Given the description of an element on the screen output the (x, y) to click on. 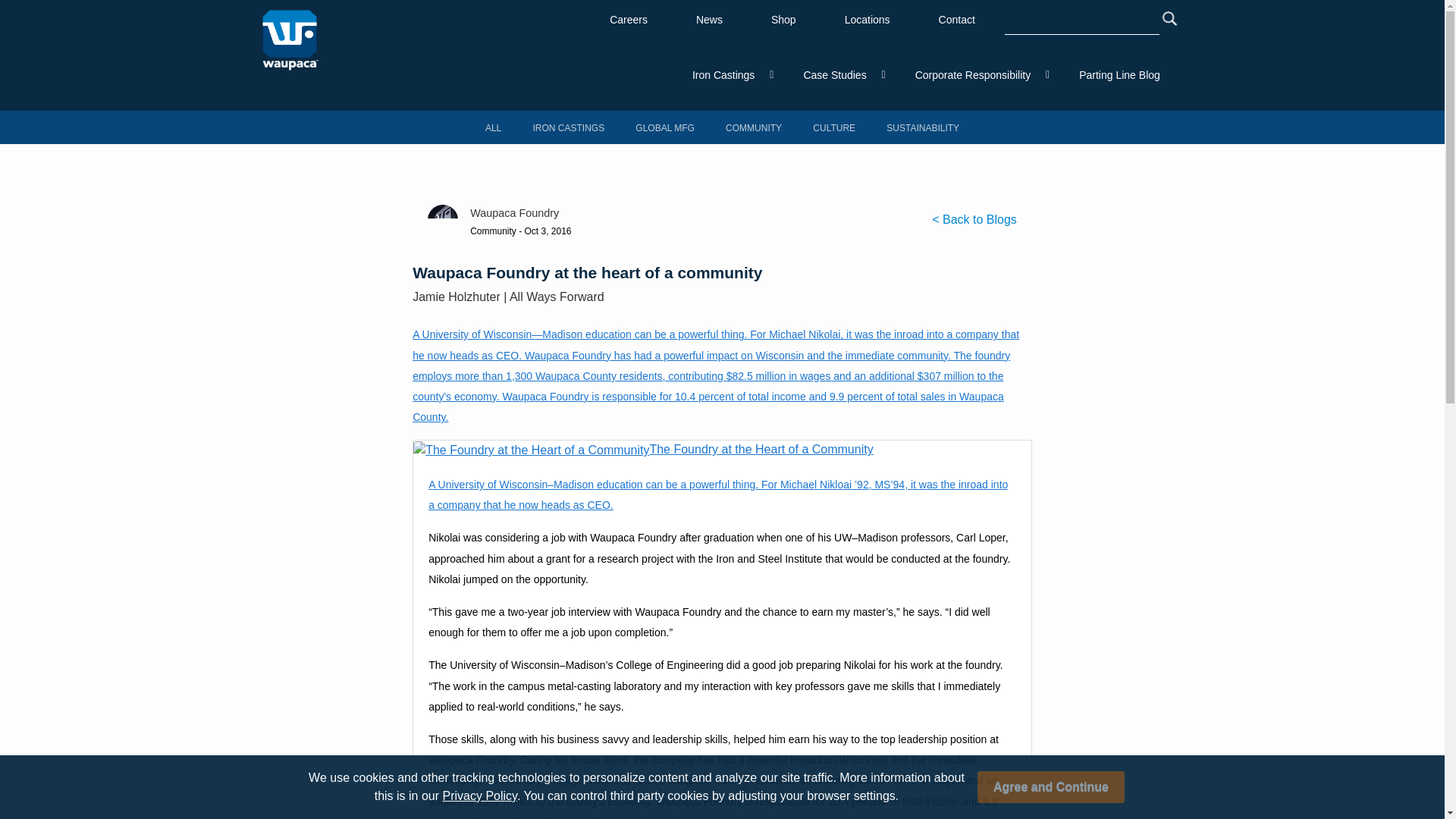
Parting Line Blog (1119, 75)
CULTURE (834, 128)
Iron Castings (722, 75)
GLOBAL MFG (665, 128)
IRON CASTINGS (568, 128)
Locations (867, 19)
News (709, 19)
The Foundry at the Heart of a Community (721, 449)
Careers (628, 19)
Shop (783, 19)
